Given the description of an element on the screen output the (x, y) to click on. 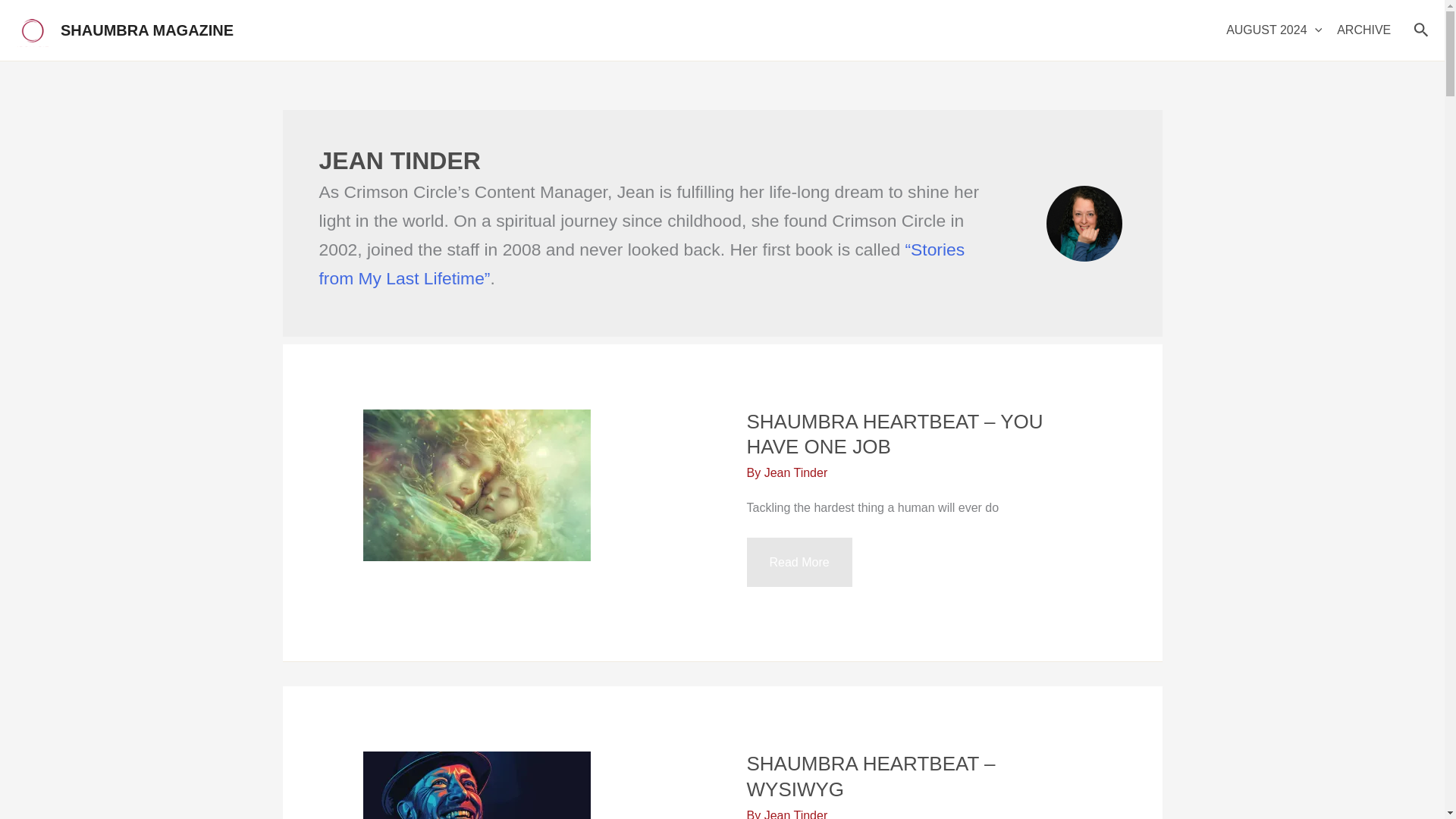
SHAUMBRA MAGAZINE (146, 30)
Jean Tinder (796, 814)
View all posts by Jean Tinder (796, 472)
View all posts by Jean Tinder (796, 814)
Jean Tinder (796, 472)
ARCHIVE (1363, 30)
AUGUST 2024 (1273, 30)
